Given the description of an element on the screen output the (x, y) to click on. 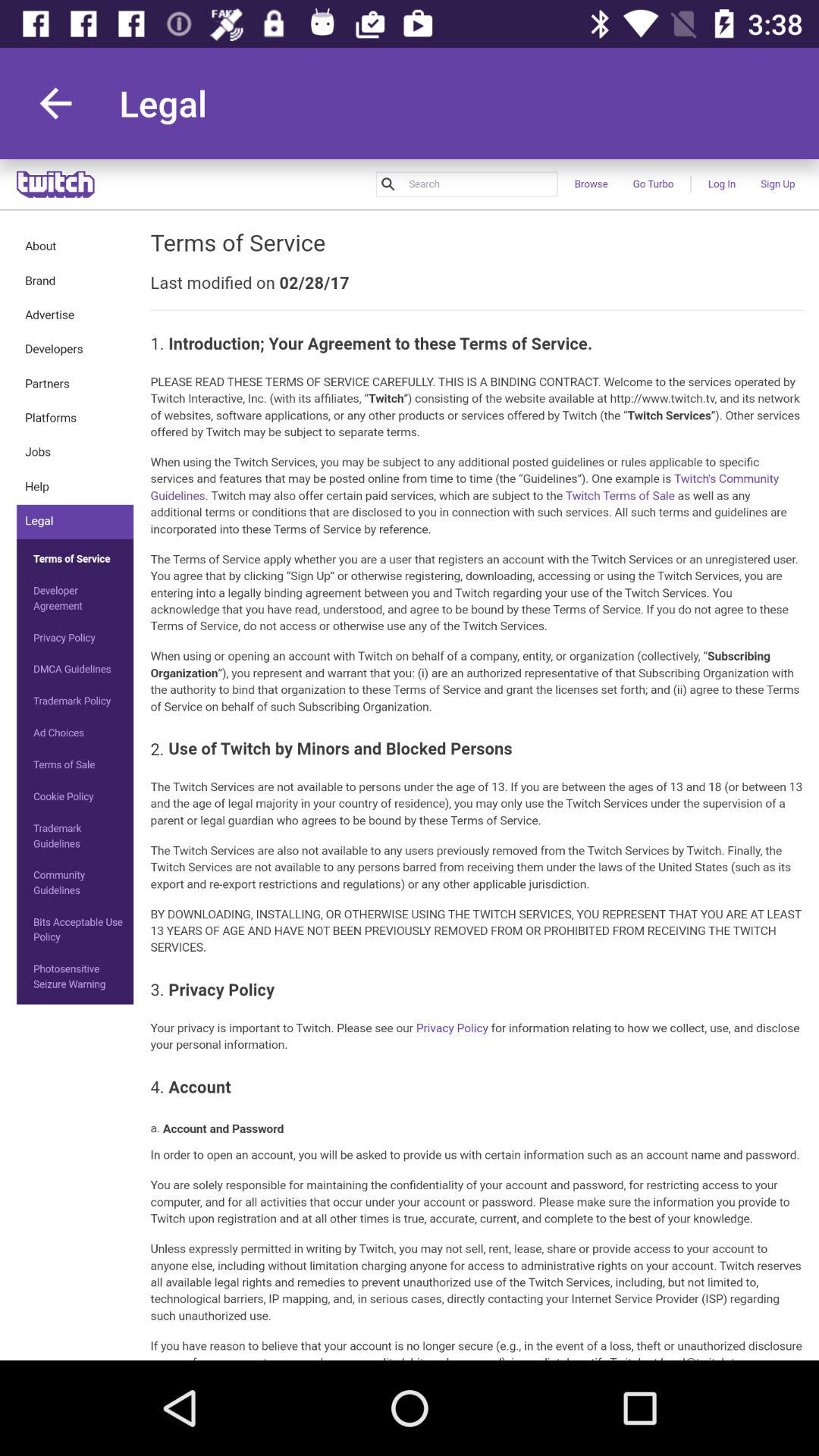
terms of service page (409, 759)
